Given the description of an element on the screen output the (x, y) to click on. 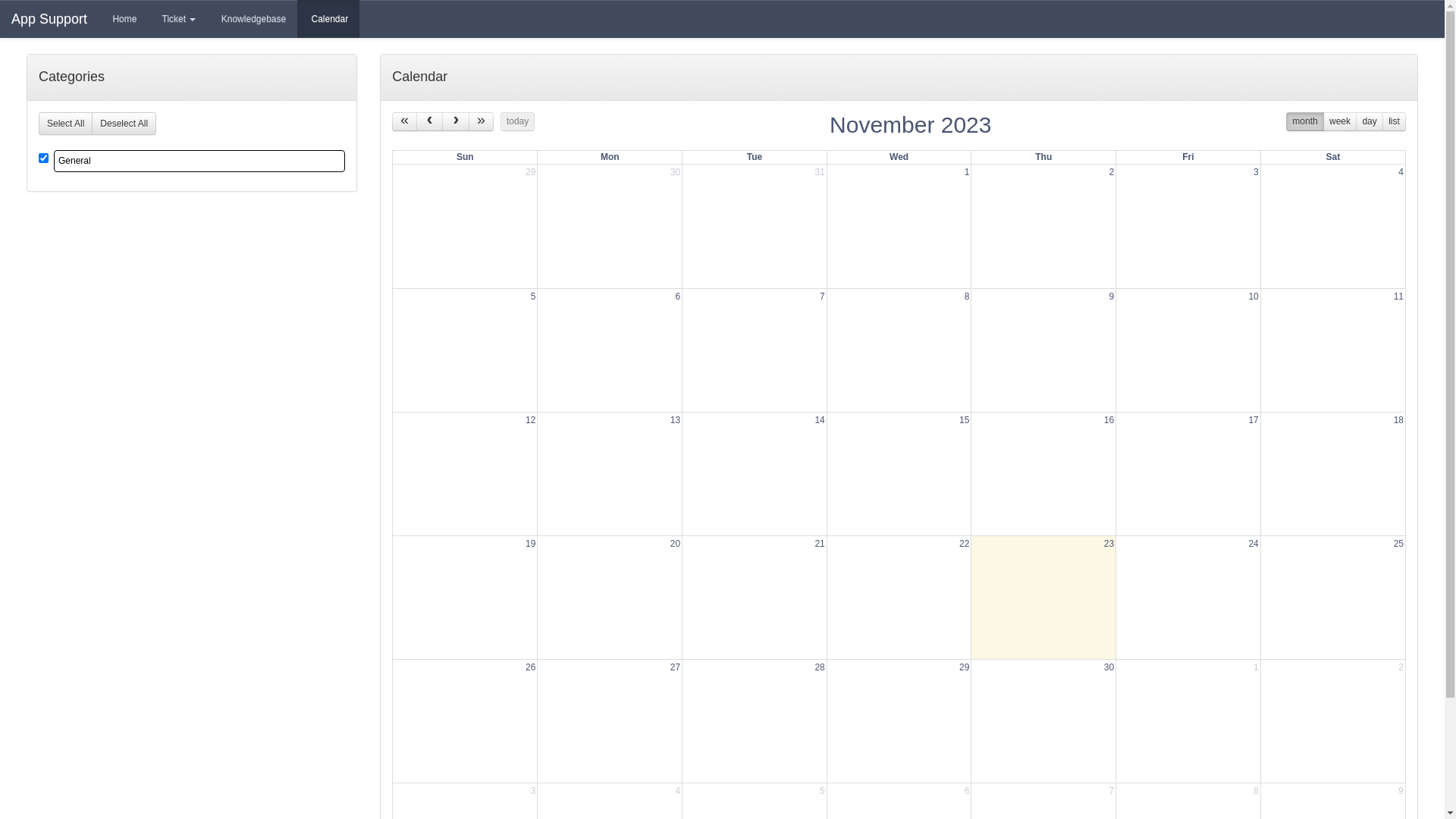
week Element type: text (1339, 121)
App Support Element type: text (49, 18)
list Element type: text (1393, 121)
today Element type: text (517, 121)
 Knowledgebase Element type: text (252, 18)
Select All Element type: text (65, 123)
 Home Element type: text (122, 18)
day Element type: text (1369, 121)
Deselect All Element type: text (123, 123)
 Calendar Element type: text (328, 18)
 Ticket Element type: text (177, 18)
month Element type: text (1305, 121)
